Given the description of an element on the screen output the (x, y) to click on. 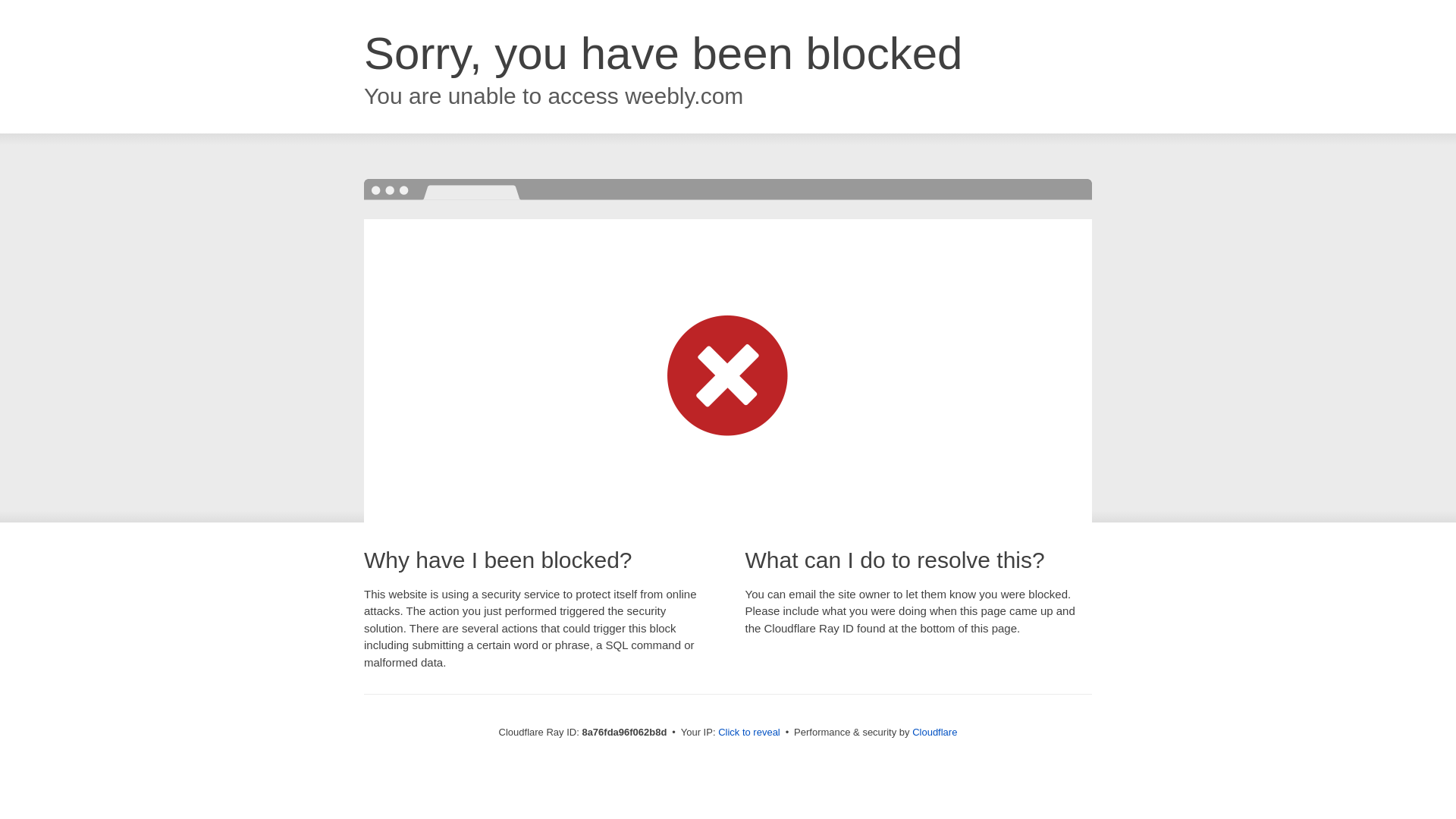
Cloudflare (934, 731)
Click to reveal (748, 732)
